Given the description of an element on the screen output the (x, y) to click on. 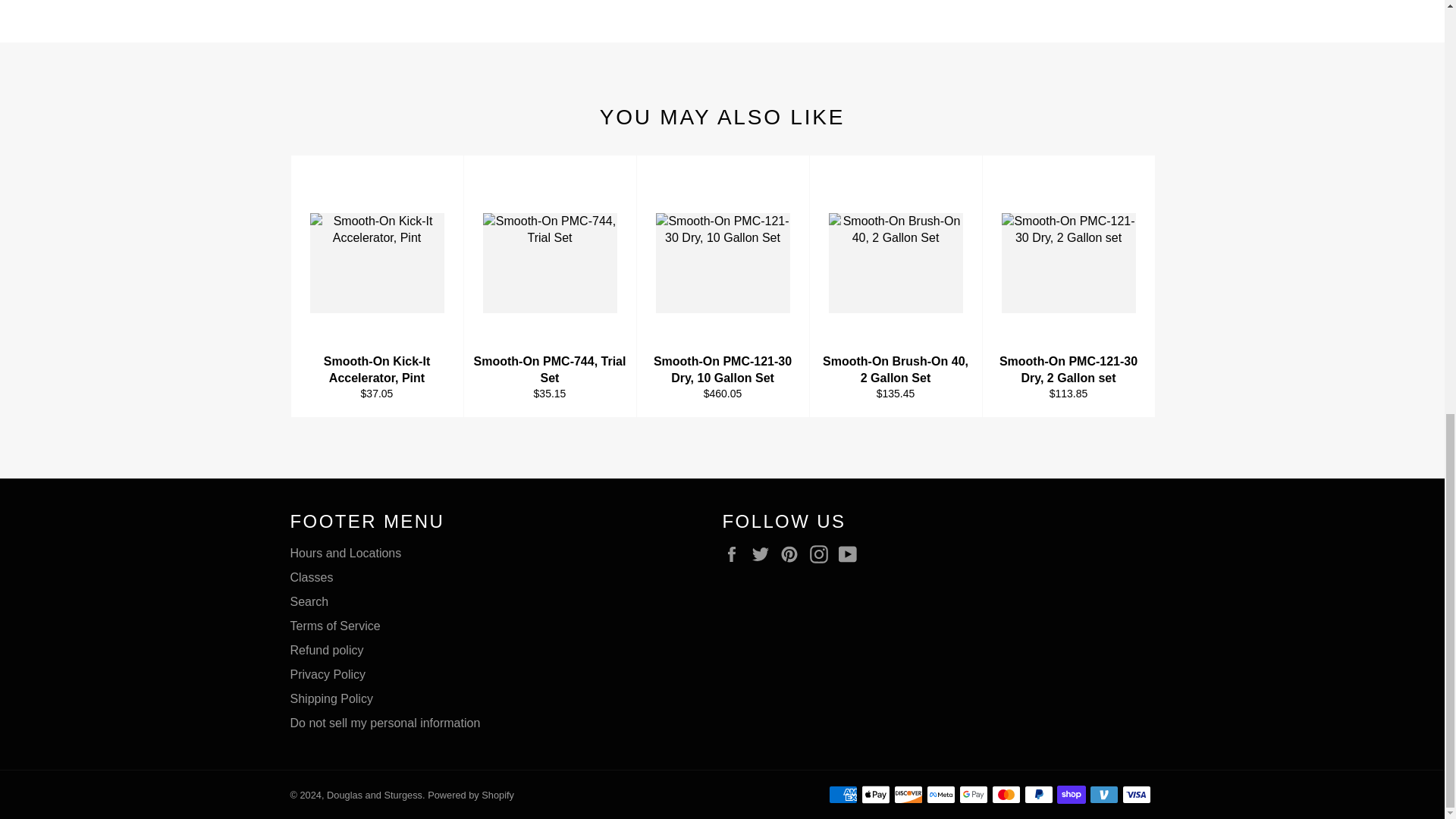
Douglas and Sturgess on Twitter (764, 554)
Douglas and Sturgess on YouTube (851, 554)
Douglas and Sturgess on Instagram (822, 554)
Douglas and Sturgess on Facebook (735, 554)
Douglas and Sturgess on Pinterest (793, 554)
